Given the description of an element on the screen output the (x, y) to click on. 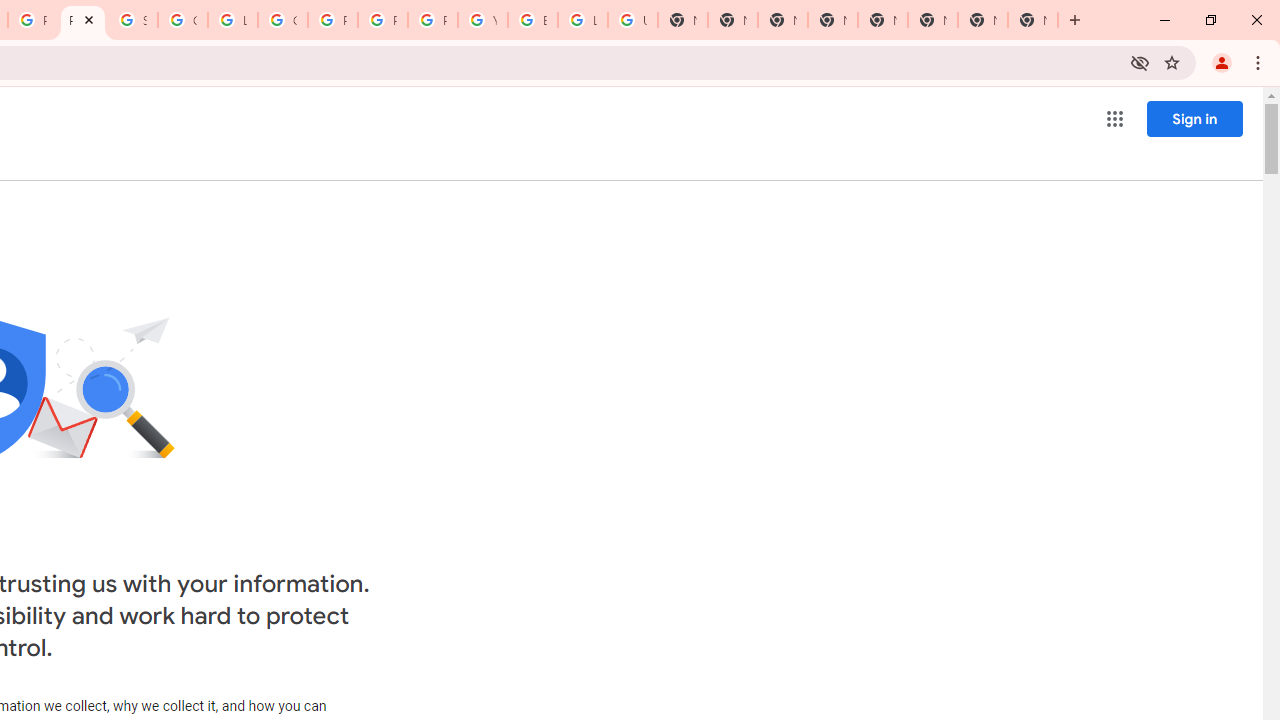
Privacy Help Center - Policies Help (383, 20)
Privacy Help Center - Policies Help (333, 20)
